Given the description of an element on the screen output the (x, y) to click on. 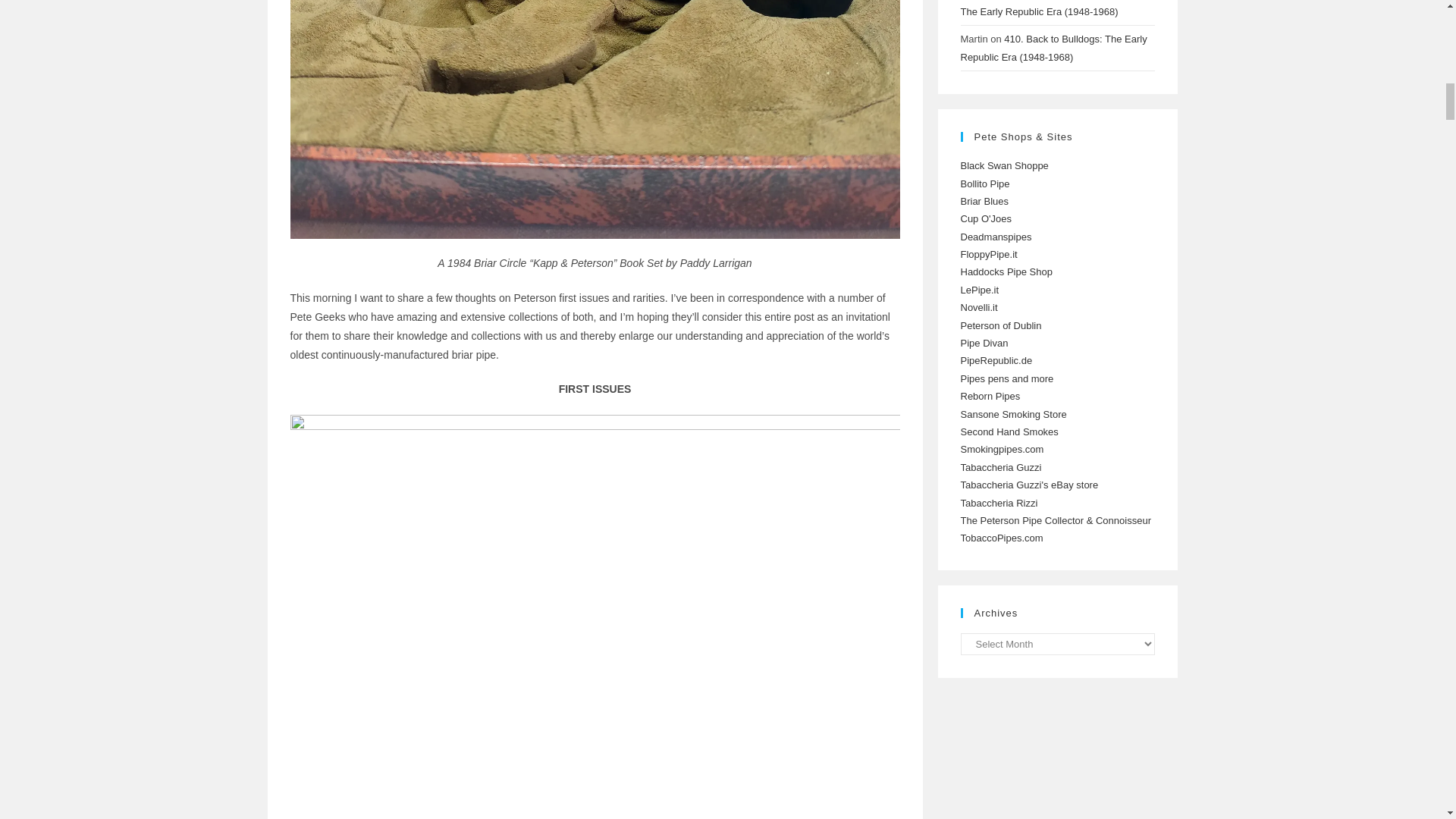
Todd Becker is passionate about Petes! Check it out! (994, 236)
Good selection of quality estate Petes (984, 201)
Peterson Website (1000, 325)
Danish e-tailer with eclectic range of Petes (1005, 271)
Italian-market Peterson pipes (984, 183)
Many high-end Peterson pipes (985, 218)
